Given the description of an element on the screen output the (x, y) to click on. 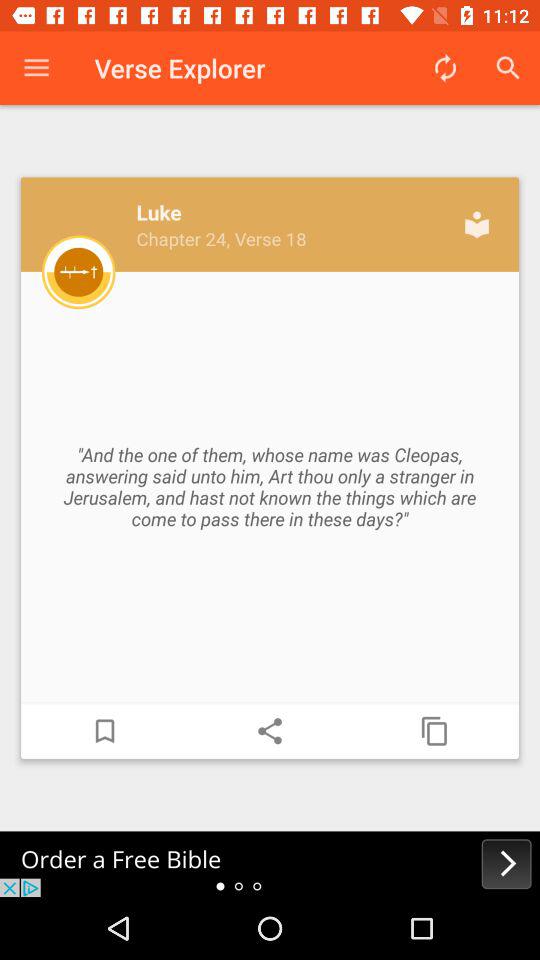
copy (435, 731)
